Given the description of an element on the screen output the (x, y) to click on. 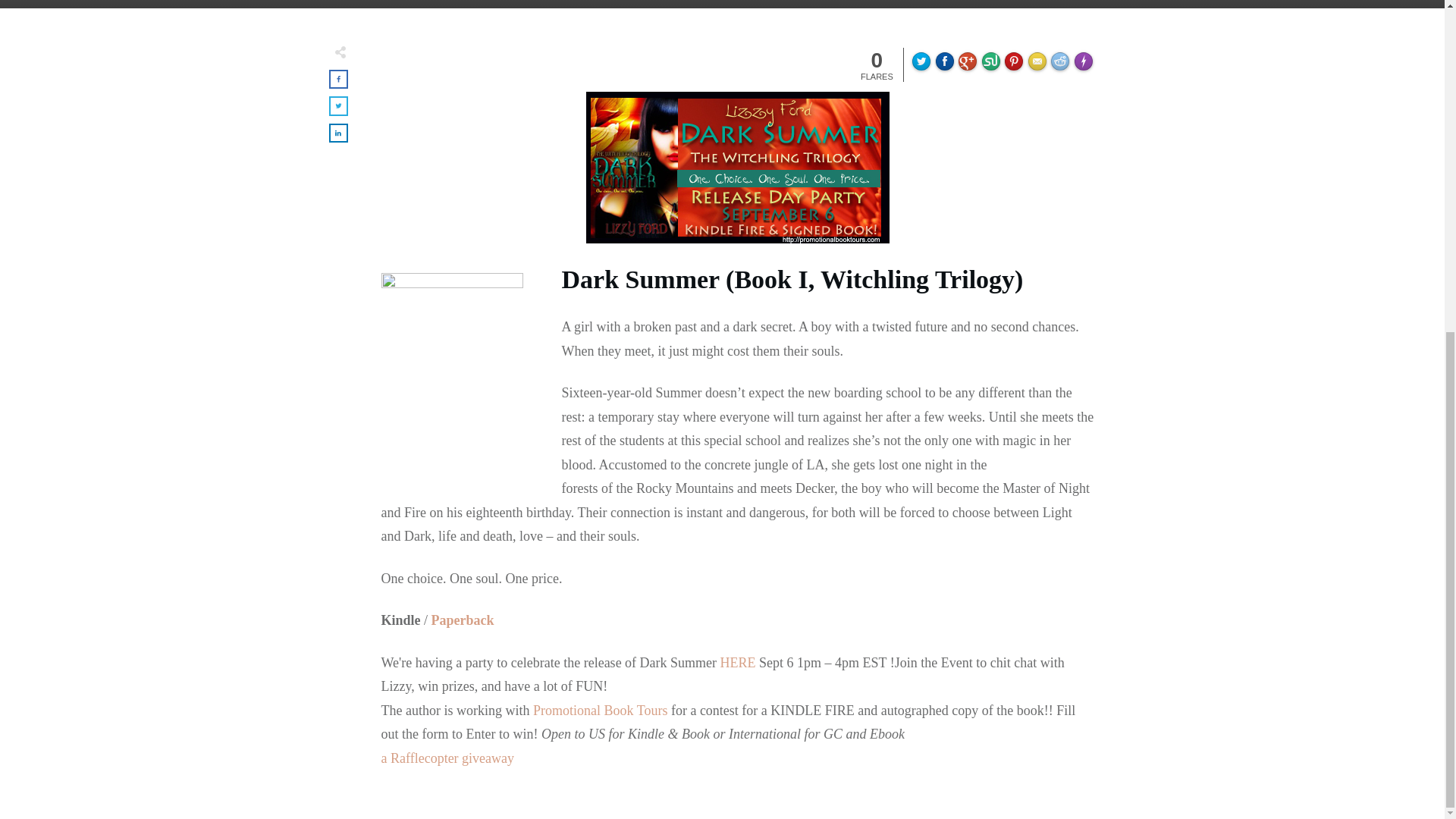
HERE (737, 662)
darksummerpromobanner (736, 167)
a Rafflecopter giveaway (446, 758)
Paperback (462, 620)
Promotional Book Tours (599, 710)
